Given the description of an element on the screen output the (x, y) to click on. 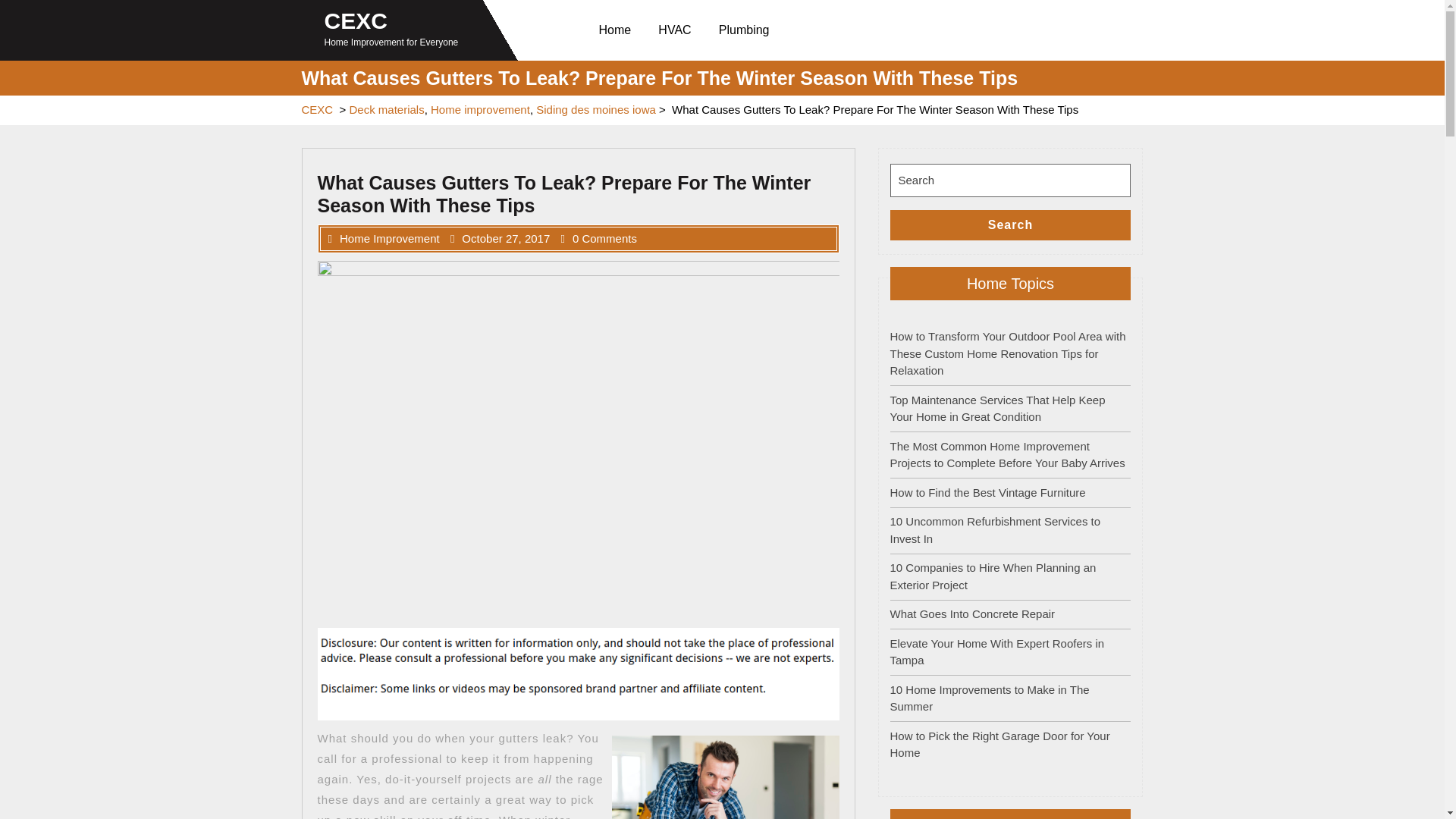
10 Home Improvements to Make in The Summer (989, 697)
Elevate Your Home With Expert Roofers in Tampa (997, 652)
CEXC (317, 109)
How to Pick the Right Garage Door for Your Home (999, 744)
10 Companies to Hire When Planning an Exterior Project (992, 576)
Home improvement (479, 109)
How to Find the Best Vintage Furniture (987, 491)
Deck materials (386, 109)
Search (1010, 224)
Plumbing (747, 29)
HVAC (677, 29)
CEXC (355, 20)
Siding des moines iowa (595, 109)
